Given the description of an element on the screen output the (x, y) to click on. 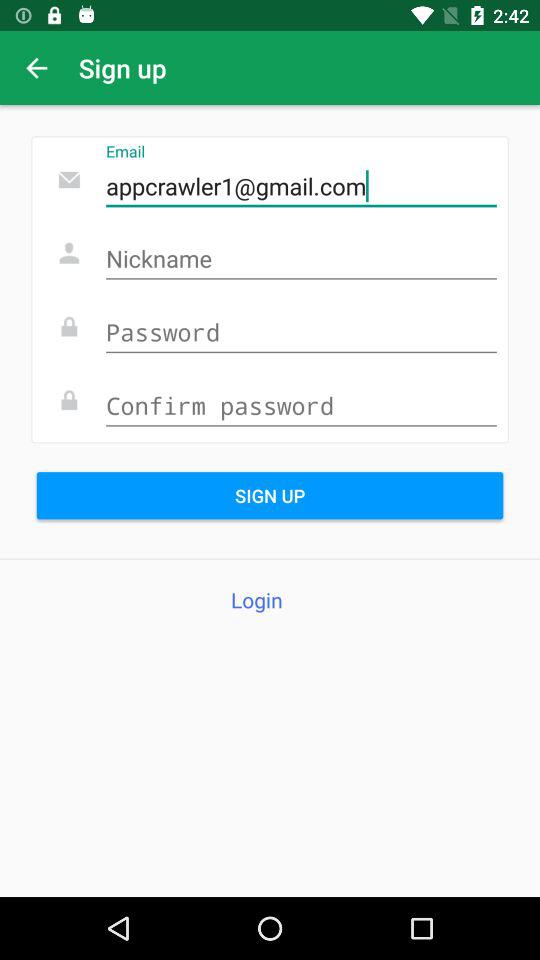
type the nickname (301, 259)
